Given the description of an element on the screen output the (x, y) to click on. 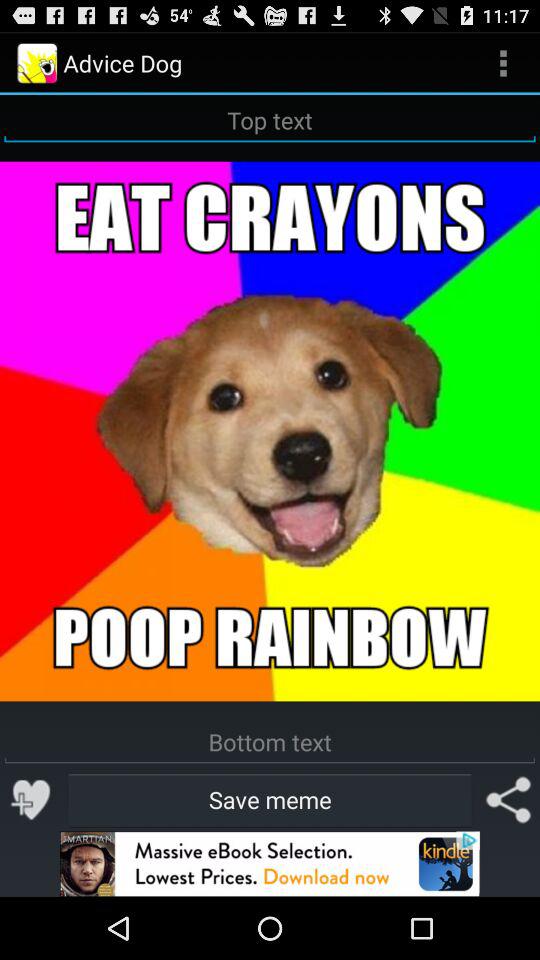
add text (270, 120)
